Given the description of an element on the screen output the (x, y) to click on. 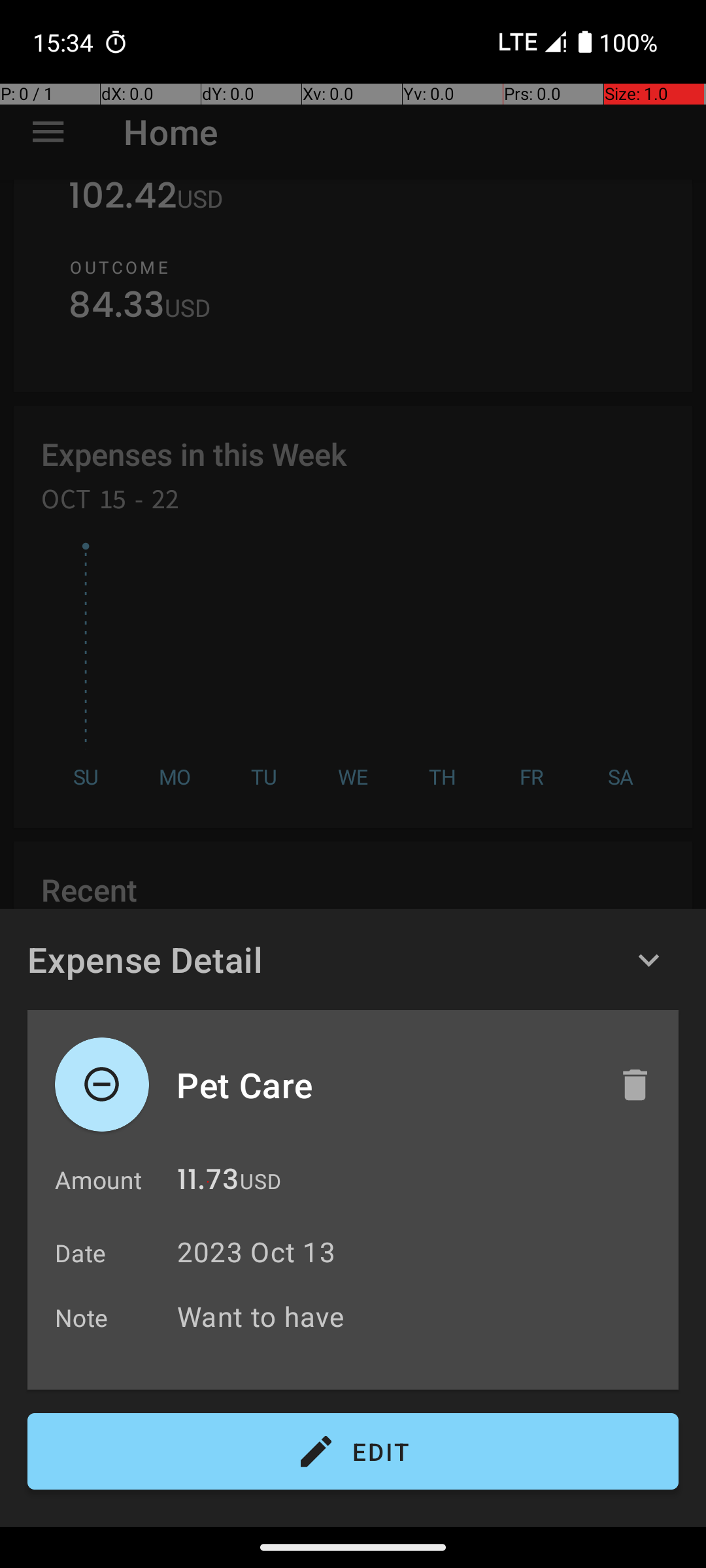
Pet Care Element type: android.widget.TextView (383, 1084)
11.73 Element type: android.widget.TextView (207, 1182)
